Given the description of an element on the screen output the (x, y) to click on. 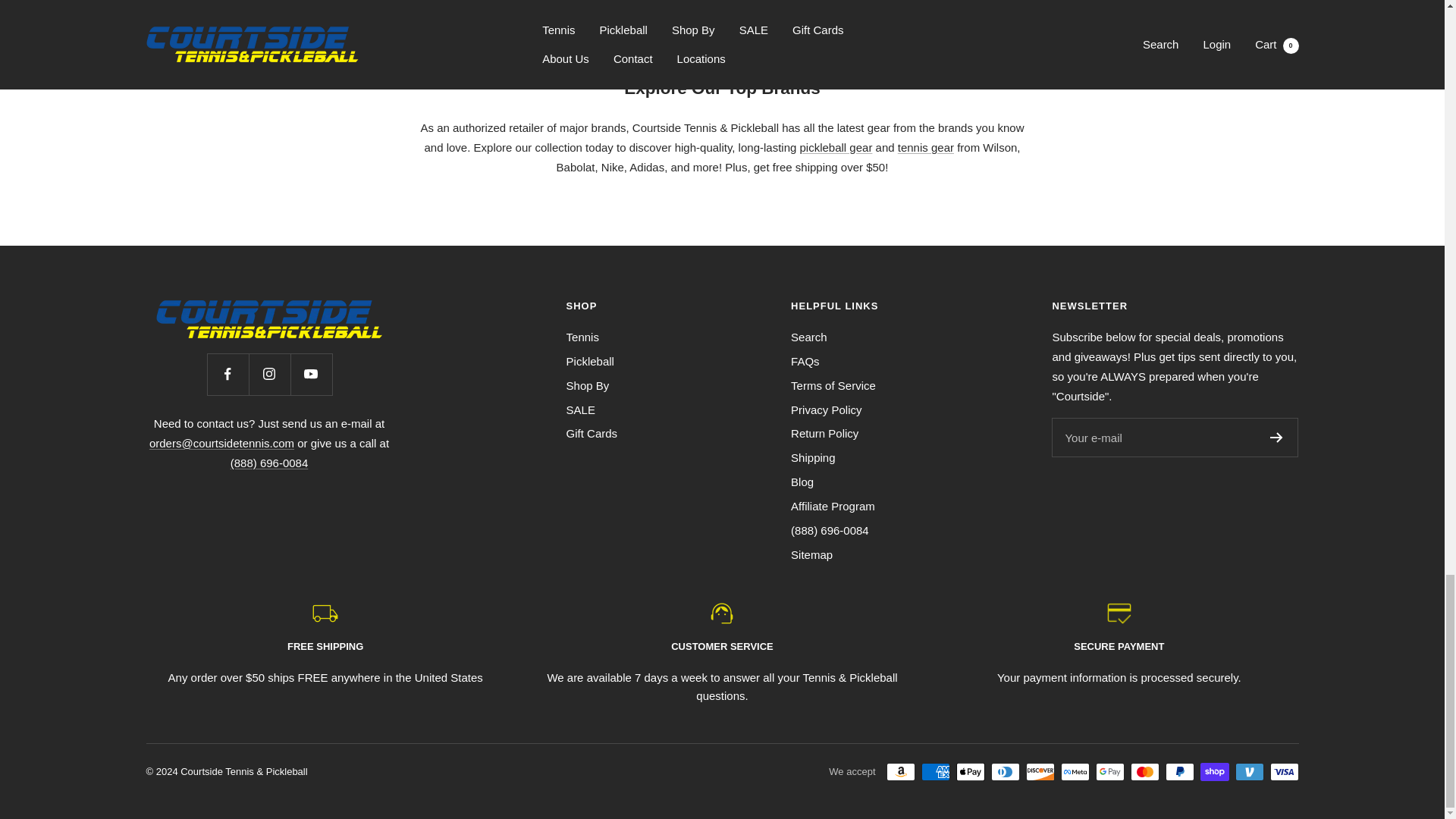
Register (1275, 437)
tel:8886960084 (269, 463)
